Given the description of an element on the screen output the (x, y) to click on. 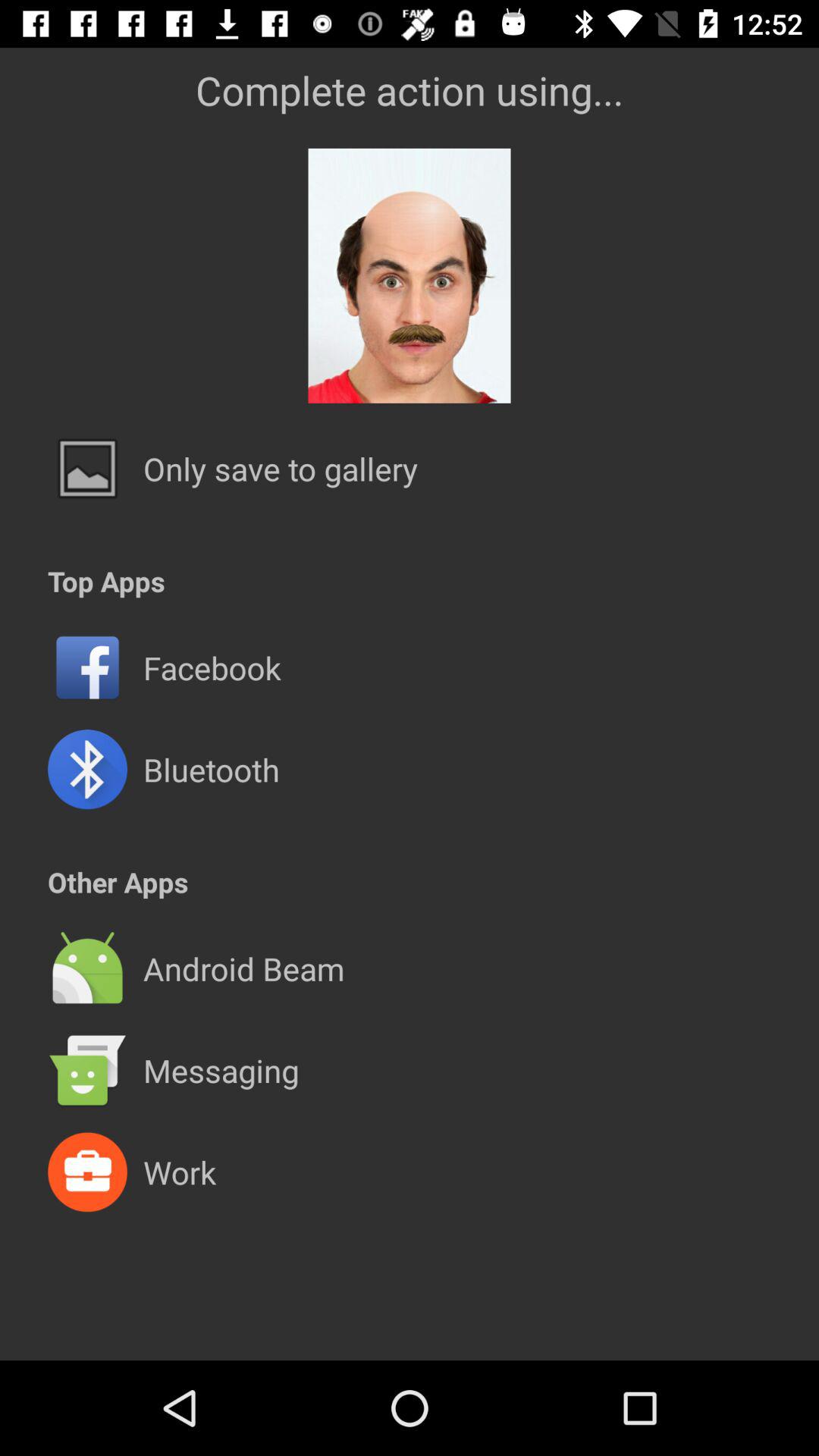
select the icon below other apps item (409, 917)
